Given the description of an element on the screen output the (x, y) to click on. 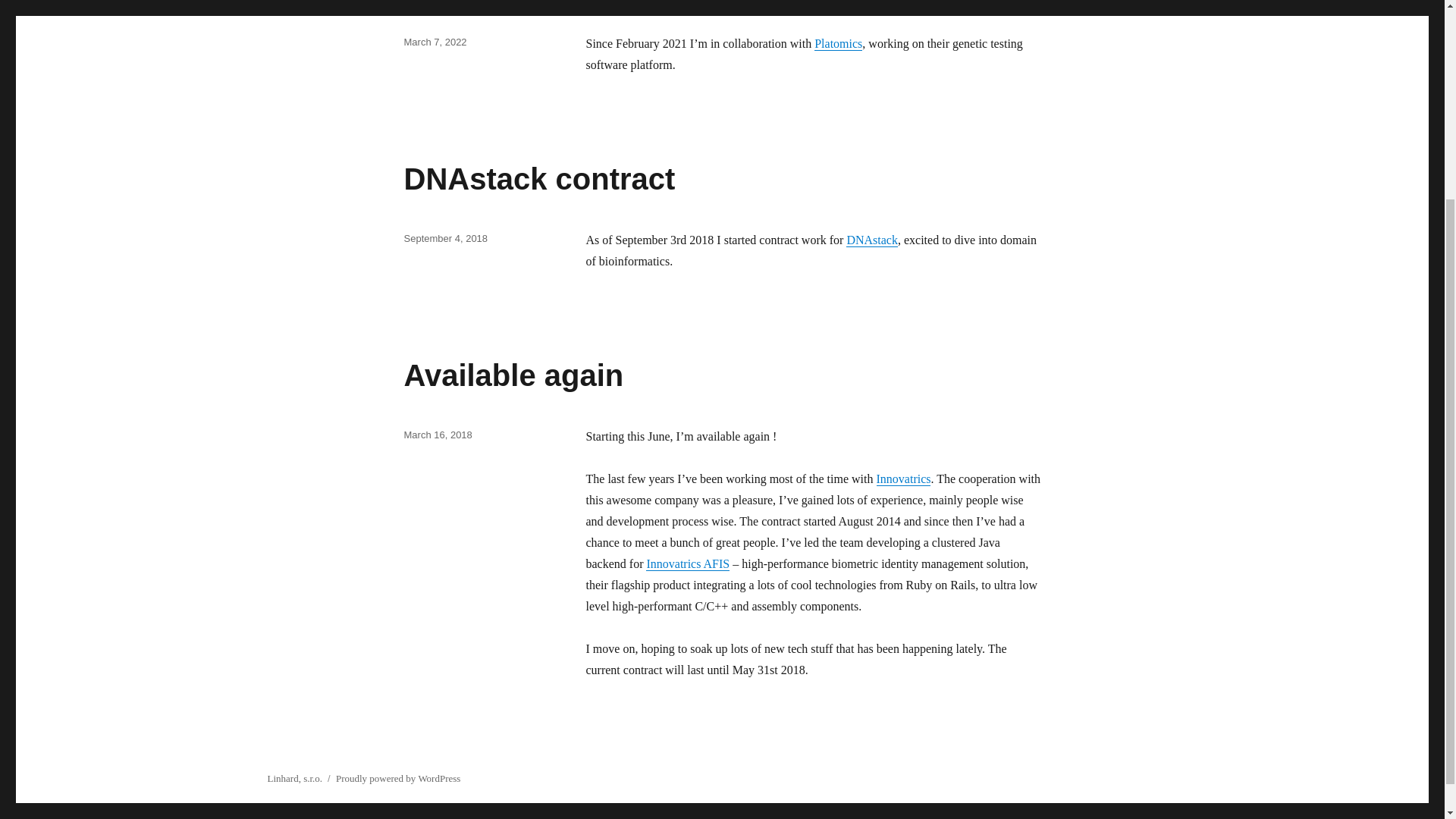
March 16, 2018 (437, 434)
Available again (513, 375)
Innovatrics (903, 478)
Linhard, s.r.o. (293, 778)
September 4, 2018 (445, 238)
Proudly powered by WordPress (398, 778)
DNAstack contract (539, 178)
Platomics (837, 42)
DNAstack (871, 239)
Innovatrics AFIS (687, 563)
March 7, 2022 (434, 41)
